Given the description of an element on the screen output the (x, y) to click on. 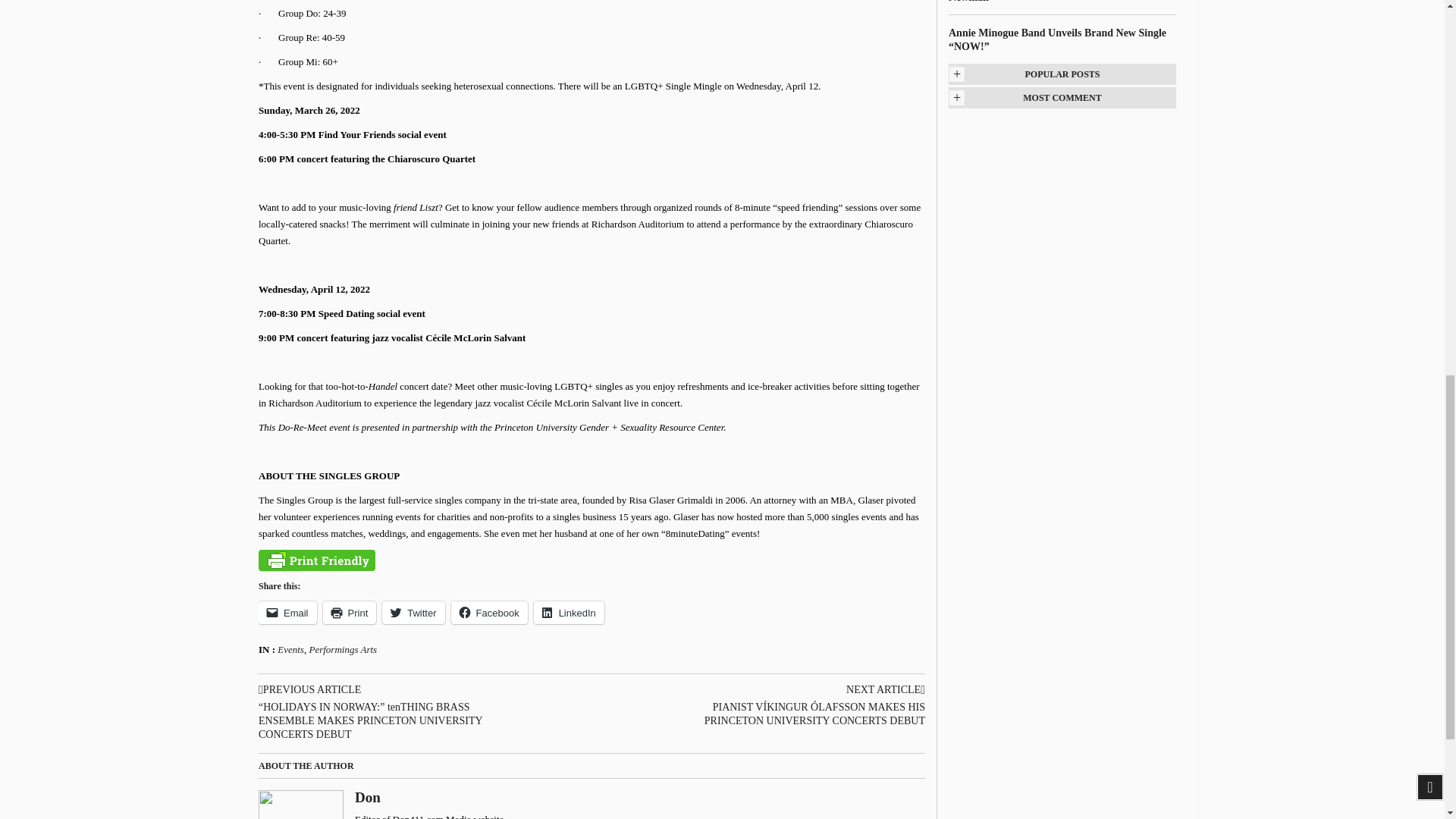
Click to email a link to a friend (288, 612)
NEXT ARTICLE (791, 689)
Facebook (489, 612)
Performings Arts (342, 649)
PREVIOUS ARTICLE (392, 689)
Click to share on LinkedIn (569, 612)
Twitter (412, 612)
Click to print (350, 612)
Click to share on Facebook (489, 612)
Click to share on Twitter (412, 612)
